Given the description of an element on the screen output the (x, y) to click on. 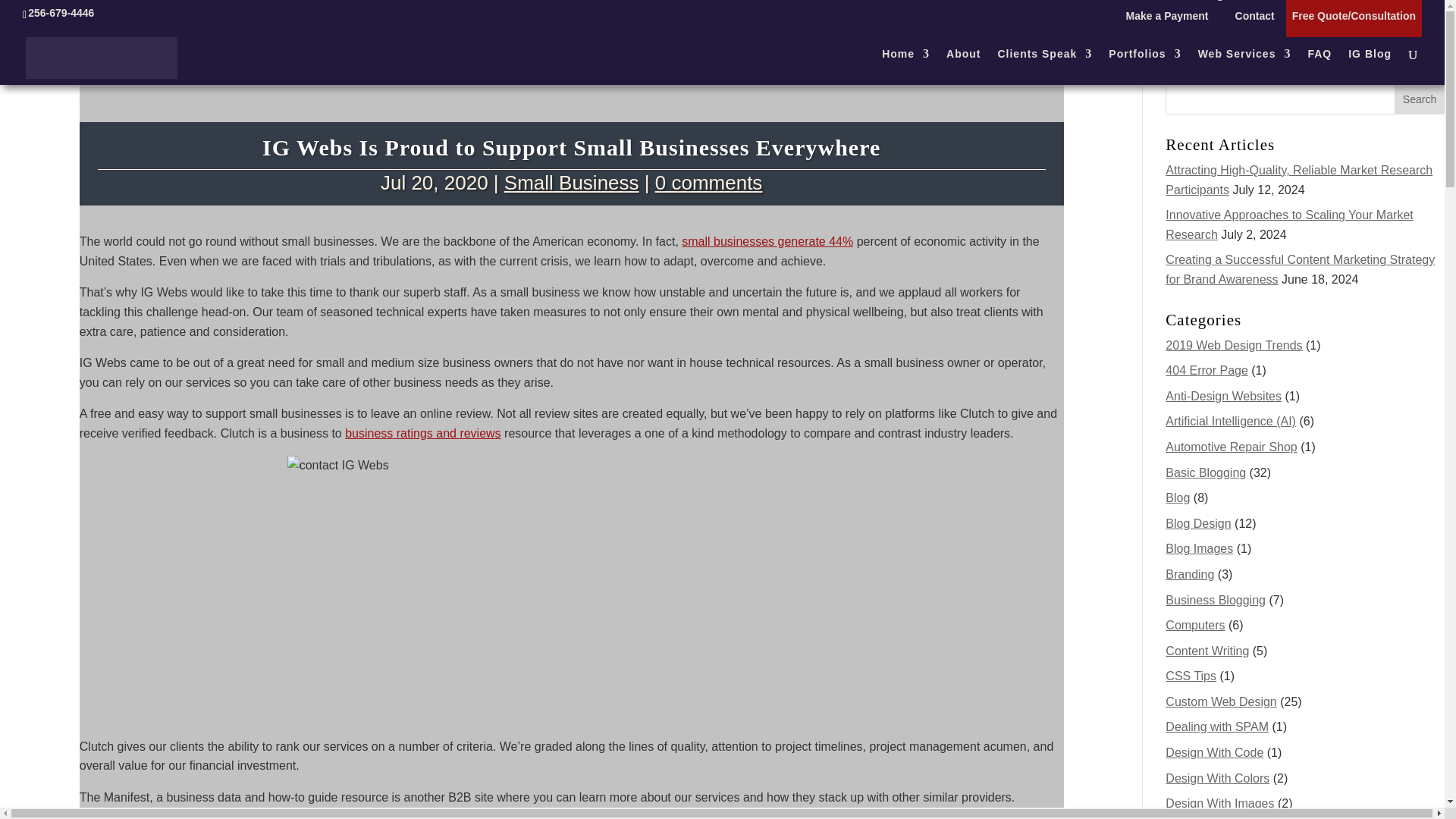
Make a Payment (1174, 19)
Web Services (1244, 66)
0 comments (708, 182)
Home (906, 66)
Small Business (571, 182)
About (962, 66)
business ratings and reviews (422, 432)
Search (1419, 99)
Clients Speak (1044, 66)
IG Blog (1369, 66)
